Given the description of an element on the screen output the (x, y) to click on. 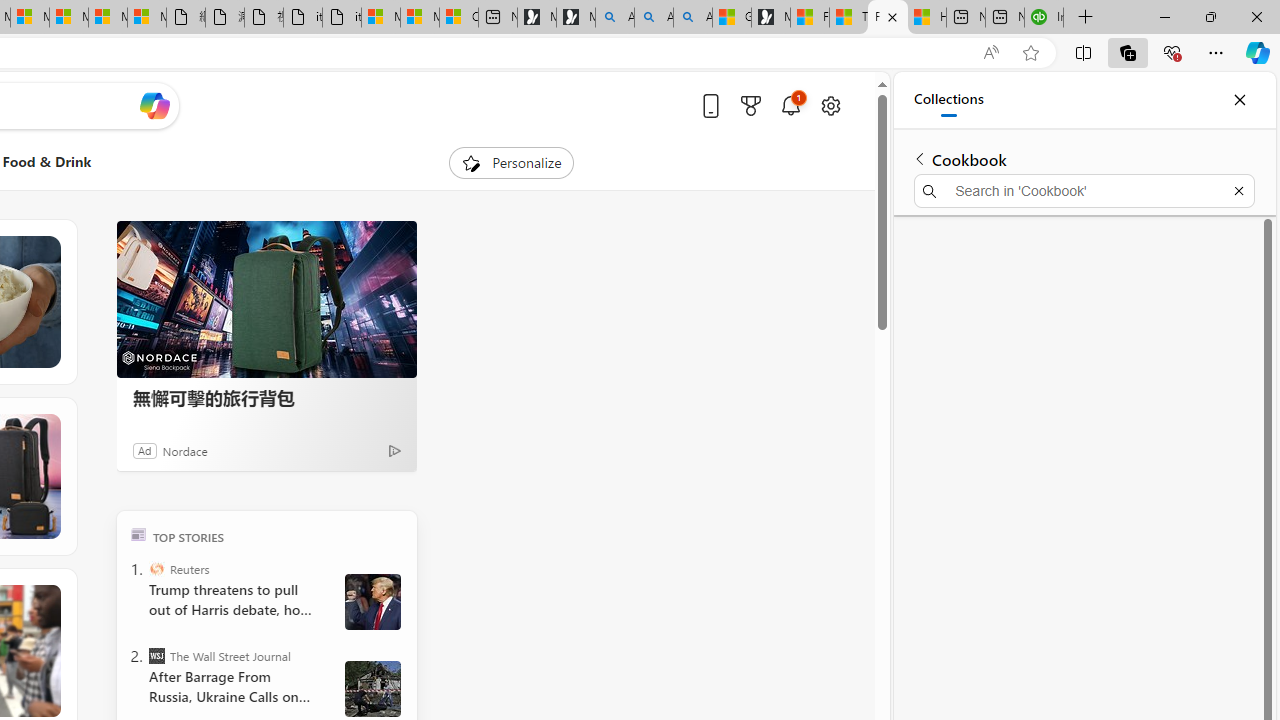
Notifications (790, 105)
Minimize (1164, 16)
Microsoft Services Agreement (29, 17)
TOP (138, 534)
Food and Drink - MSN (888, 17)
The Wall Street Journal (156, 655)
Collections (948, 99)
Search in 'Cookbook' (1084, 190)
Open settings (830, 105)
Consumer Health Data Privacy Policy (458, 17)
